Given the description of an element on the screen output the (x, y) to click on. 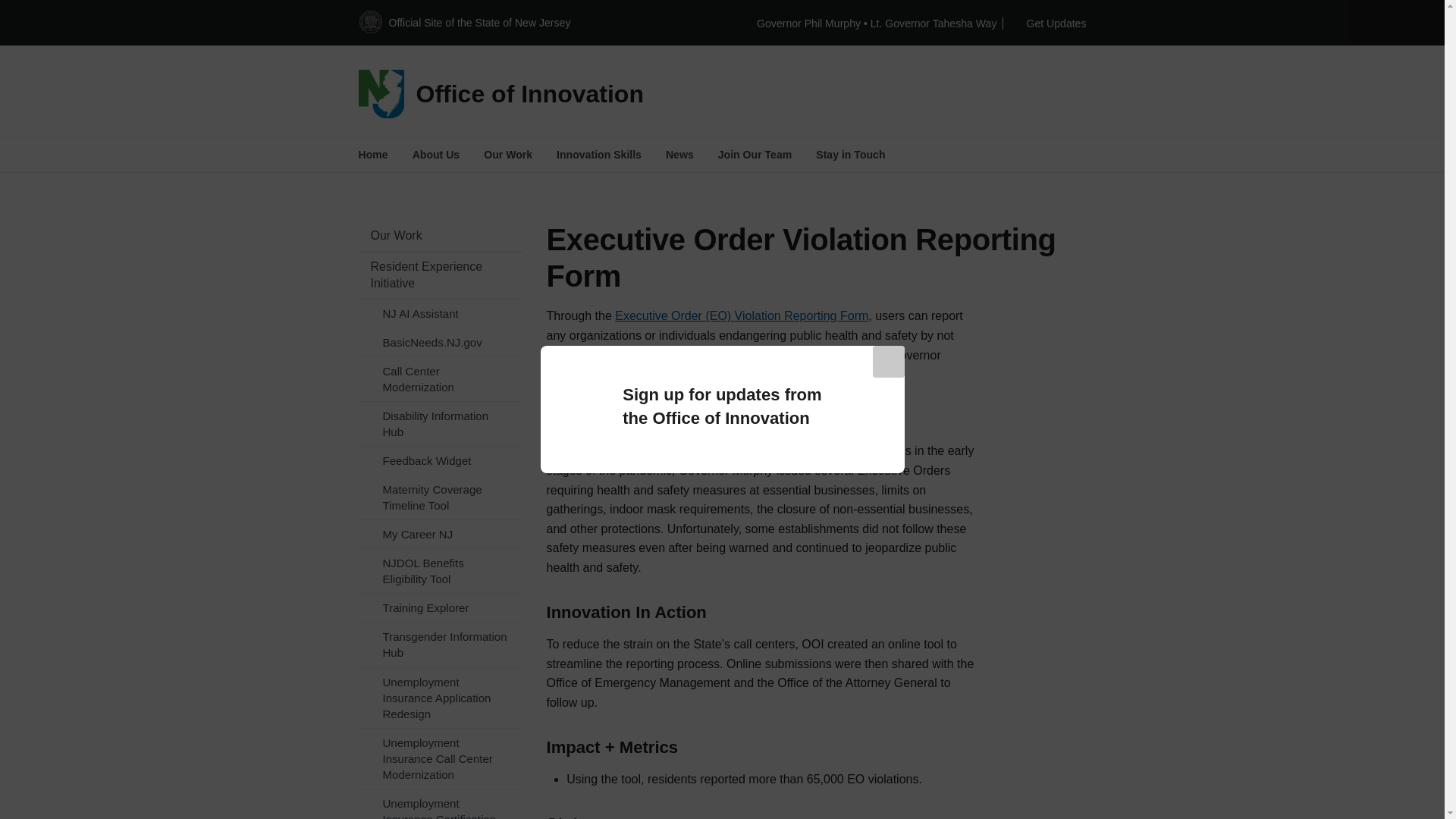
Unemployment Insurance Certification Modernization (439, 804)
NJDOL Benefits Eligibility Tool (439, 570)
NJ AI Assistant (439, 313)
Get Updates (1048, 23)
Our Work (439, 235)
Training Explorer (439, 607)
Call Center Modernization (439, 379)
Home (540, 93)
Unemployment Insurance Call Center Modernization (439, 758)
News (679, 154)
